Given the description of an element on the screen output the (x, y) to click on. 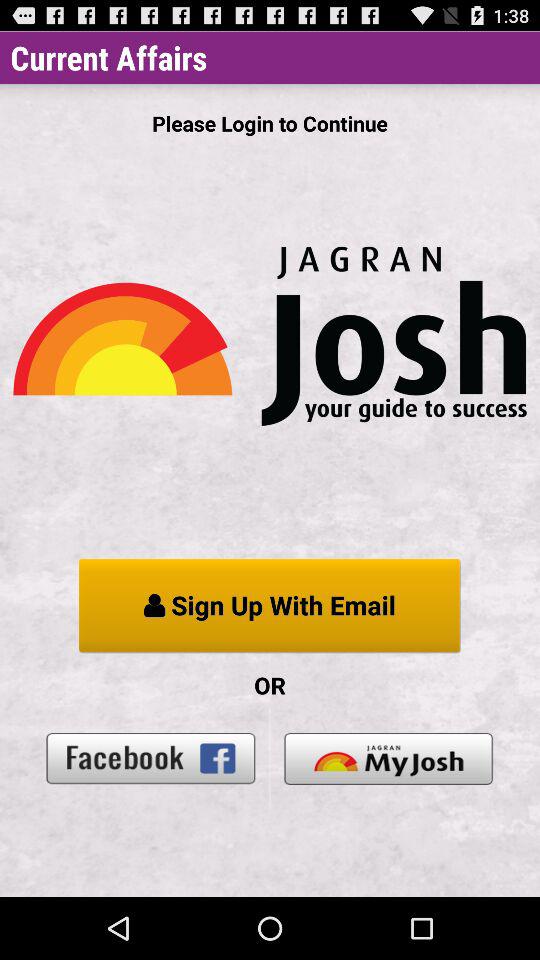
sign in with myjosh (388, 758)
